Given the description of an element on the screen output the (x, y) to click on. 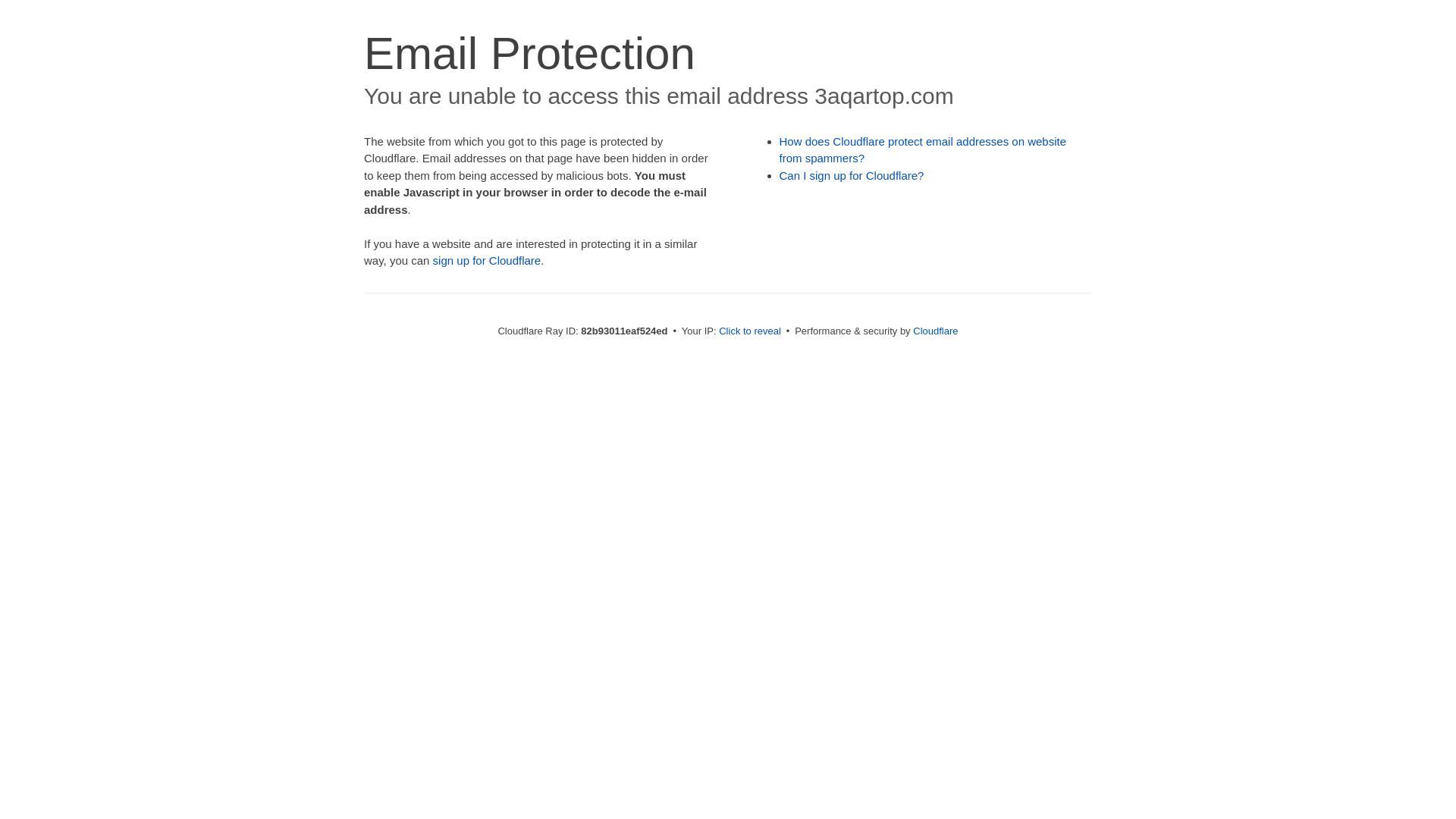
sign up for Cloudflare Element type: text (487, 260)
Can I sign up for Cloudflare? Element type: text (851, 175)
Click to reveal Element type: text (749, 330)
Cloudflare Element type: text (935, 330)
